Given the description of an element on the screen output the (x, y) to click on. 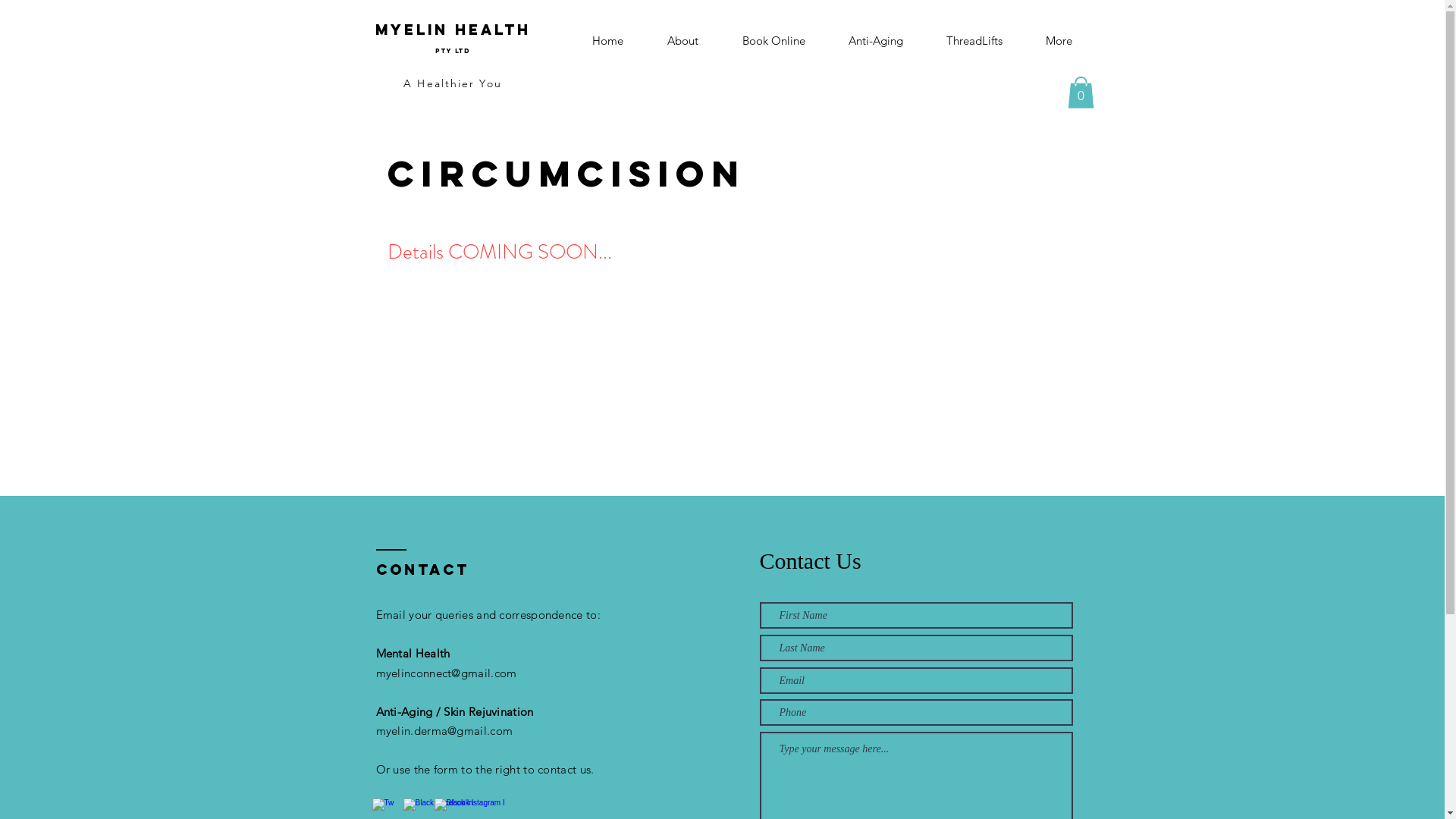
Pty Ltd Element type: text (452, 47)
Book Online Element type: text (773, 40)
Myelin Health Element type: text (452, 29)
Home Element type: text (607, 40)
A Healthier You Element type: text (452, 83)
Anti-Aging Element type: text (875, 40)
myelin.derma@gmail.com Element type: text (444, 730)
myelinconnect@gmail.com Element type: text (446, 672)
About Element type: text (681, 40)
ThreadLifts Element type: text (974, 40)
0 Element type: text (1080, 92)
